Given the description of an element on the screen output the (x, y) to click on. 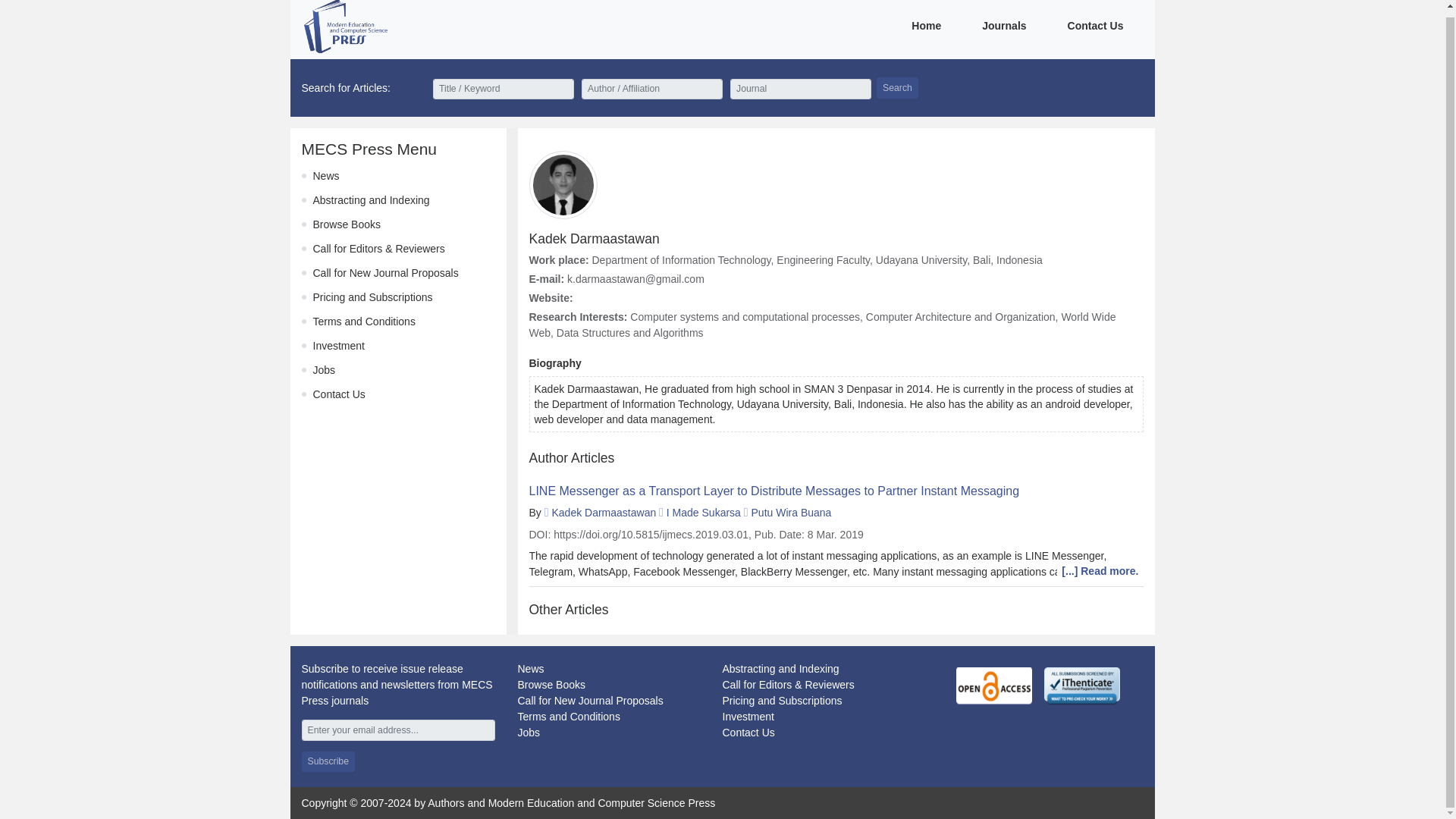
Search (897, 86)
Browse Books (346, 224)
Contact Us (748, 732)
Putu Wira Buana (791, 512)
Investment (747, 716)
Pricing and Subscriptions (781, 700)
Call for New Journal Proposals (589, 700)
Subscribe (328, 761)
News (529, 668)
Call for New Journal Proposals (385, 272)
News (326, 175)
Contact Us (339, 394)
Abstracting and Indexing (371, 200)
I Made Sukarsa (703, 512)
